Given the description of an element on the screen output the (x, y) to click on. 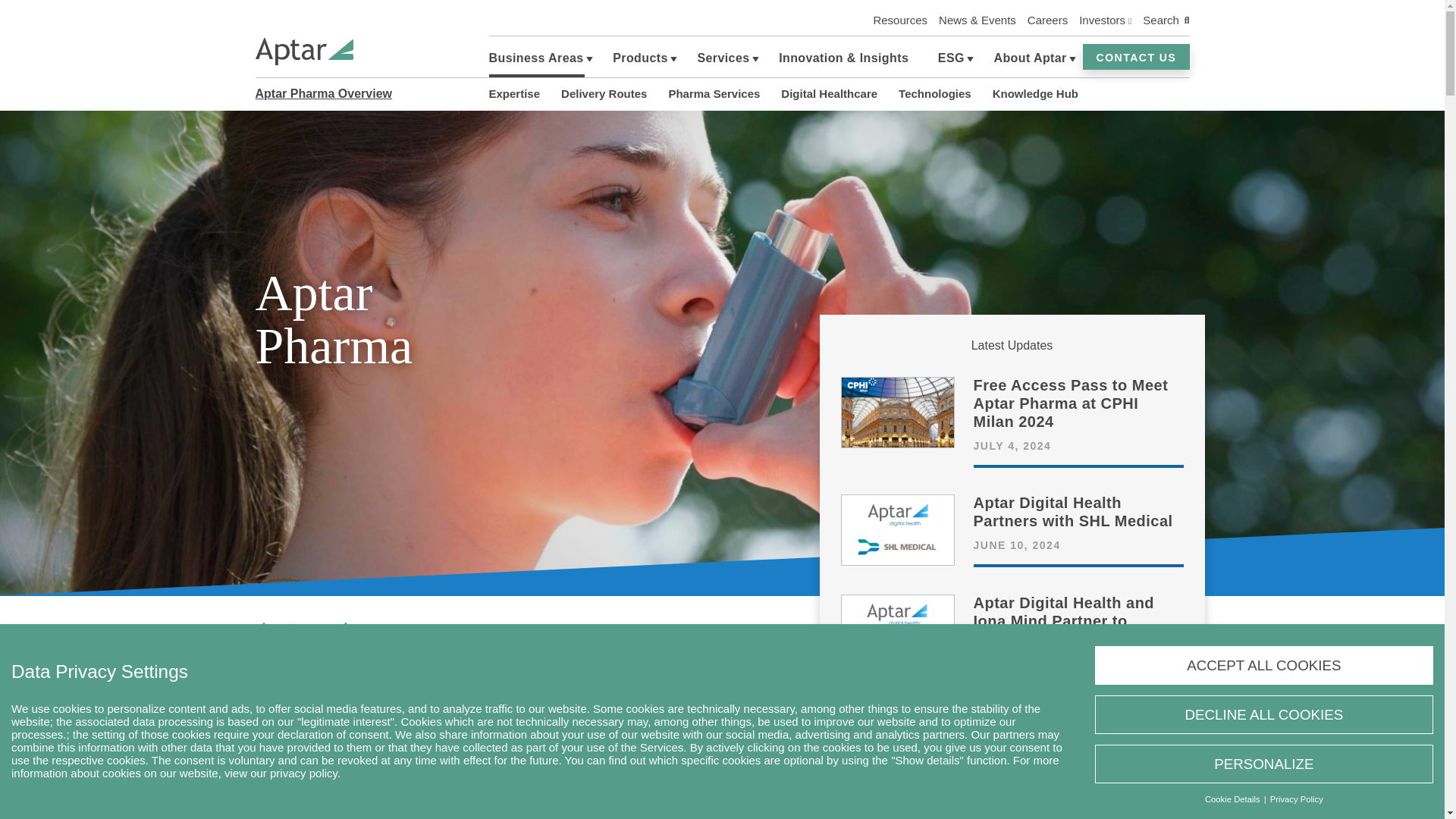
Resources (899, 19)
Careers (1047, 19)
Investors (1104, 19)
